Given the description of an element on the screen output the (x, y) to click on. 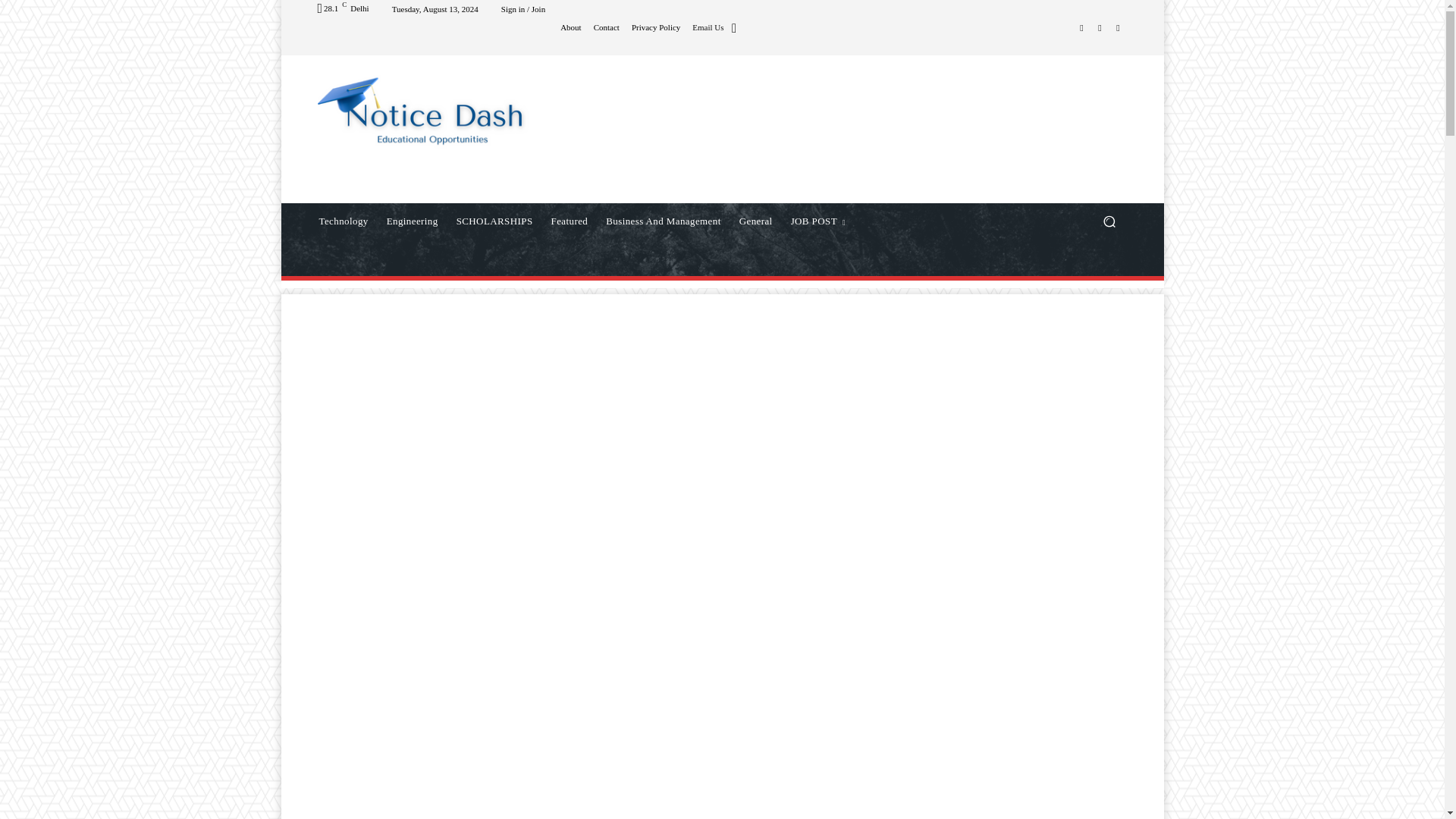
Featured (568, 221)
Contact (607, 27)
Engineering (411, 221)
Business And Management (662, 221)
About (570, 27)
Technology (342, 221)
Privacy Policy (655, 27)
Twitter (1117, 27)
Instagram (1080, 27)
General (755, 221)
